Given the description of an element on the screen output the (x, y) to click on. 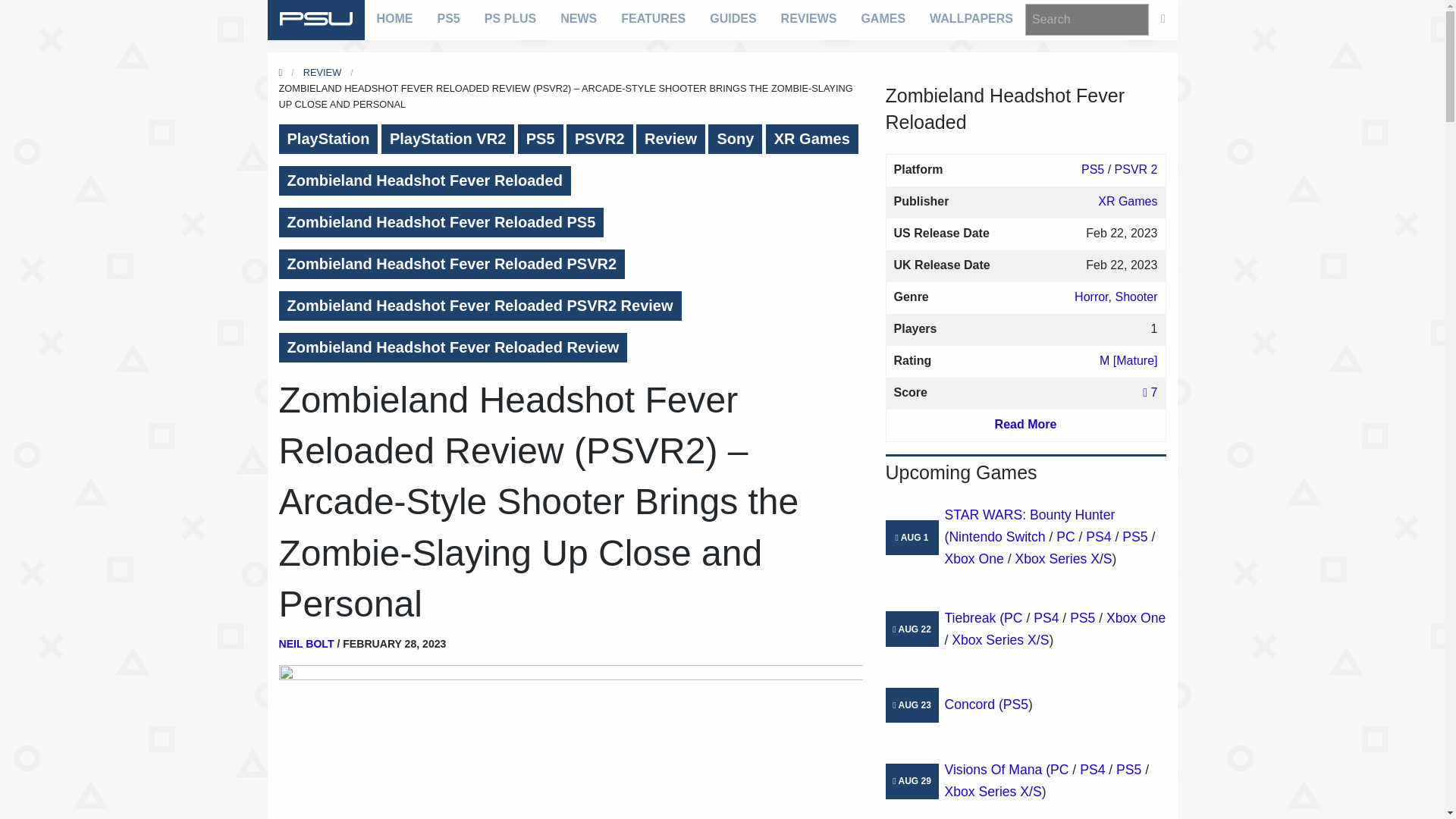
PlayStation (328, 138)
Zombieland Headshot Fever Reloaded PSVR2 Review (480, 306)
PS PLUS (509, 18)
FEATURES (652, 18)
PS5 (448, 18)
PS5 (540, 138)
HOME (280, 71)
Zombieland Headshot Fever Reloaded (424, 180)
XR Games (812, 138)
Review (670, 138)
HOME (394, 18)
Sony (734, 138)
Zombieland Headshot Fever Reloaded PSVR2 (452, 264)
Zombieland Headshot Fever Reloaded Review (453, 347)
REVIEW (321, 71)
